Given the description of an element on the screen output the (x, y) to click on. 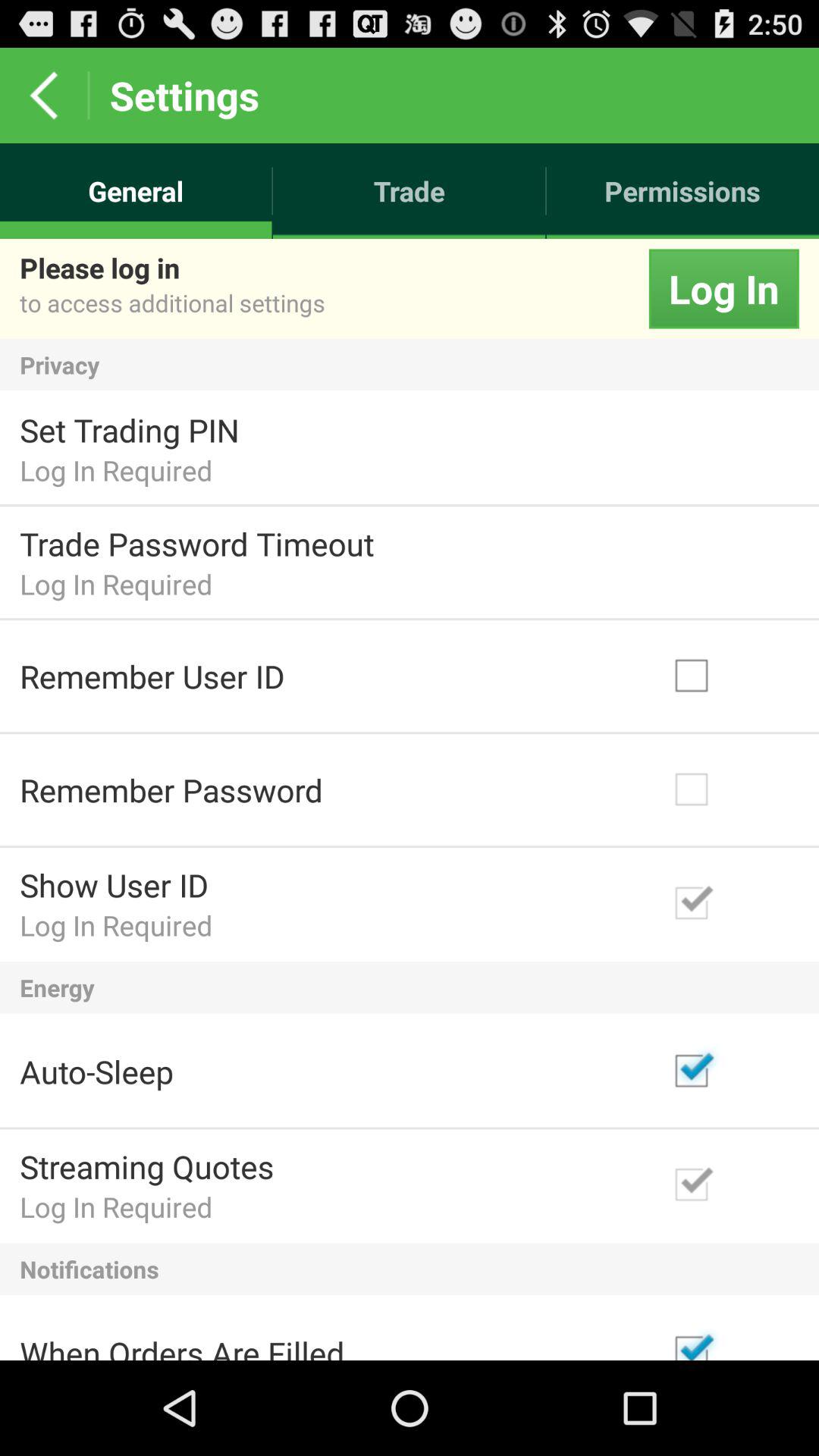
launch icon next to the trade (682, 190)
